Given the description of an element on the screen output the (x, y) to click on. 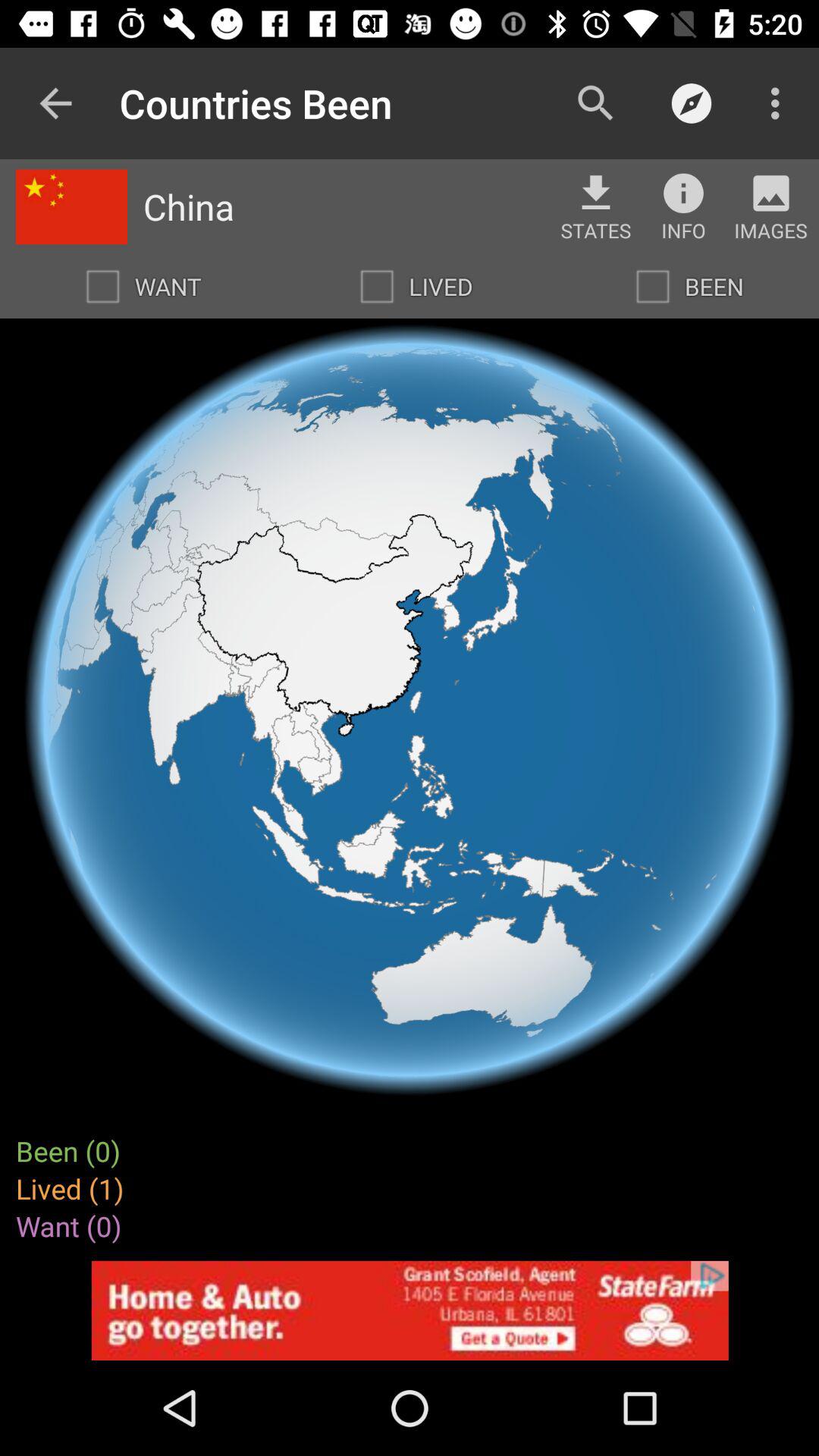
download option (595, 193)
